Given the description of an element on the screen output the (x, y) to click on. 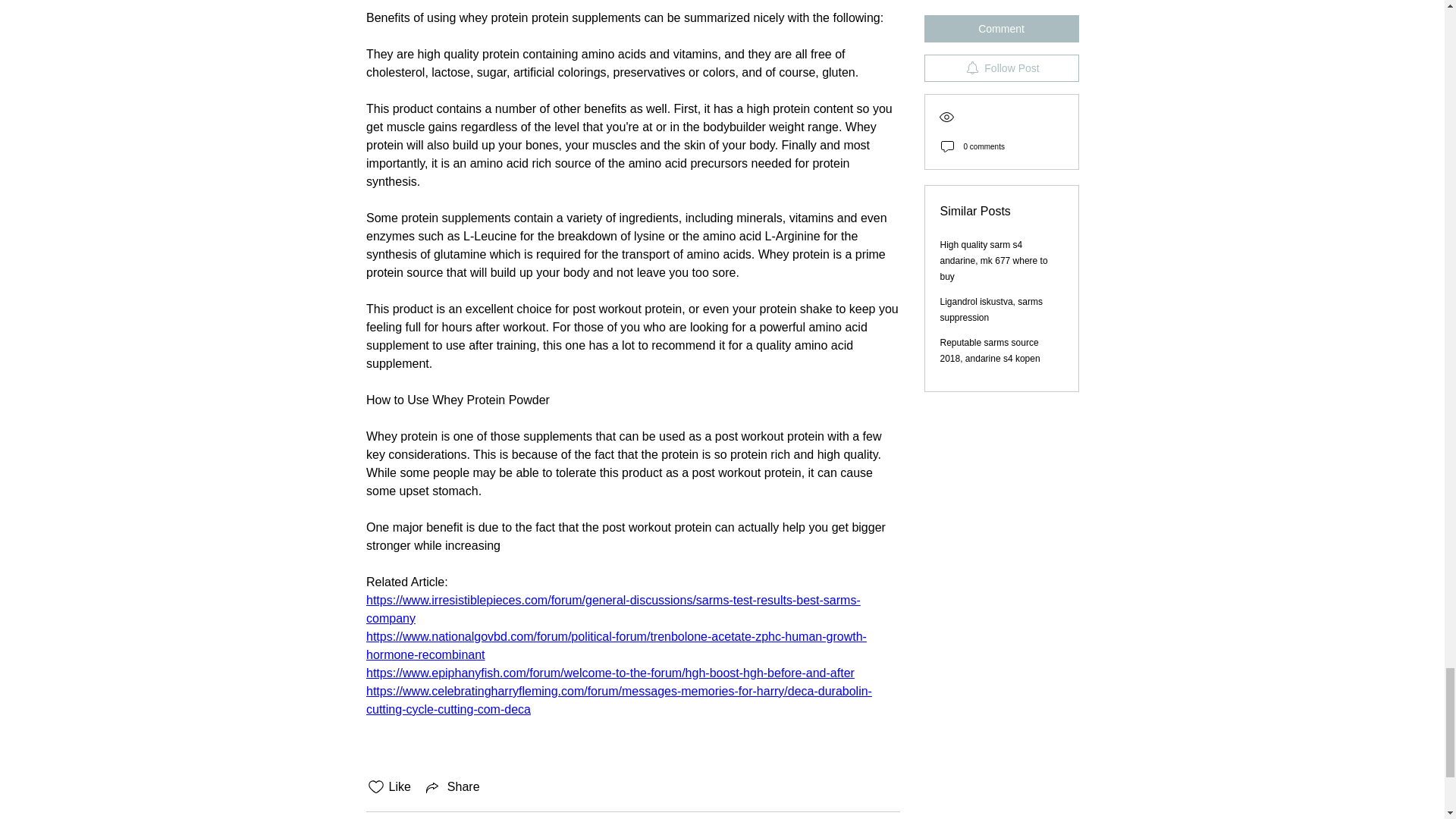
Share (451, 787)
